Given the description of an element on the screen output the (x, y) to click on. 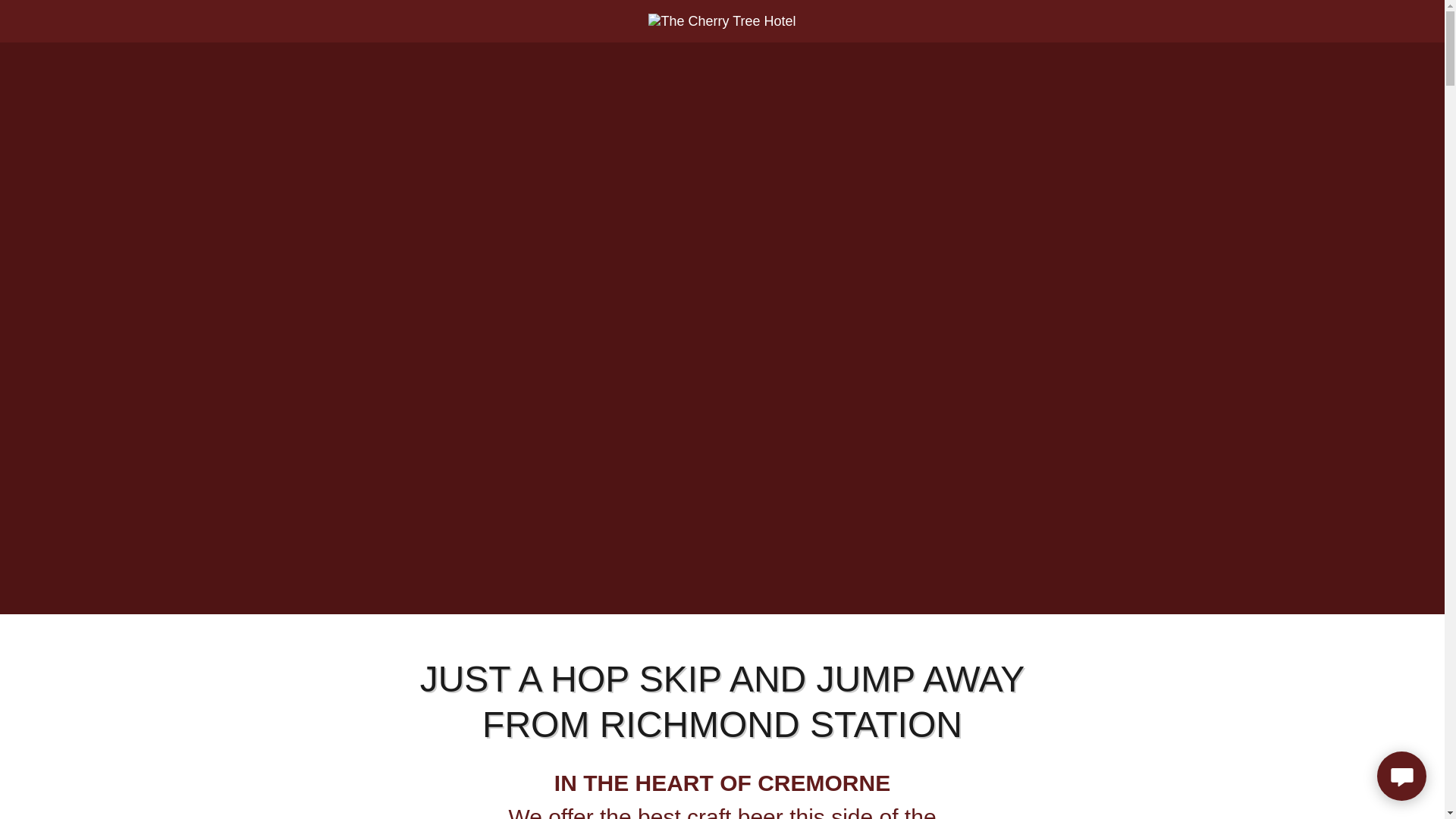
The Cherry Tree Hotel (720, 20)
